Given the description of an element on the screen output the (x, y) to click on. 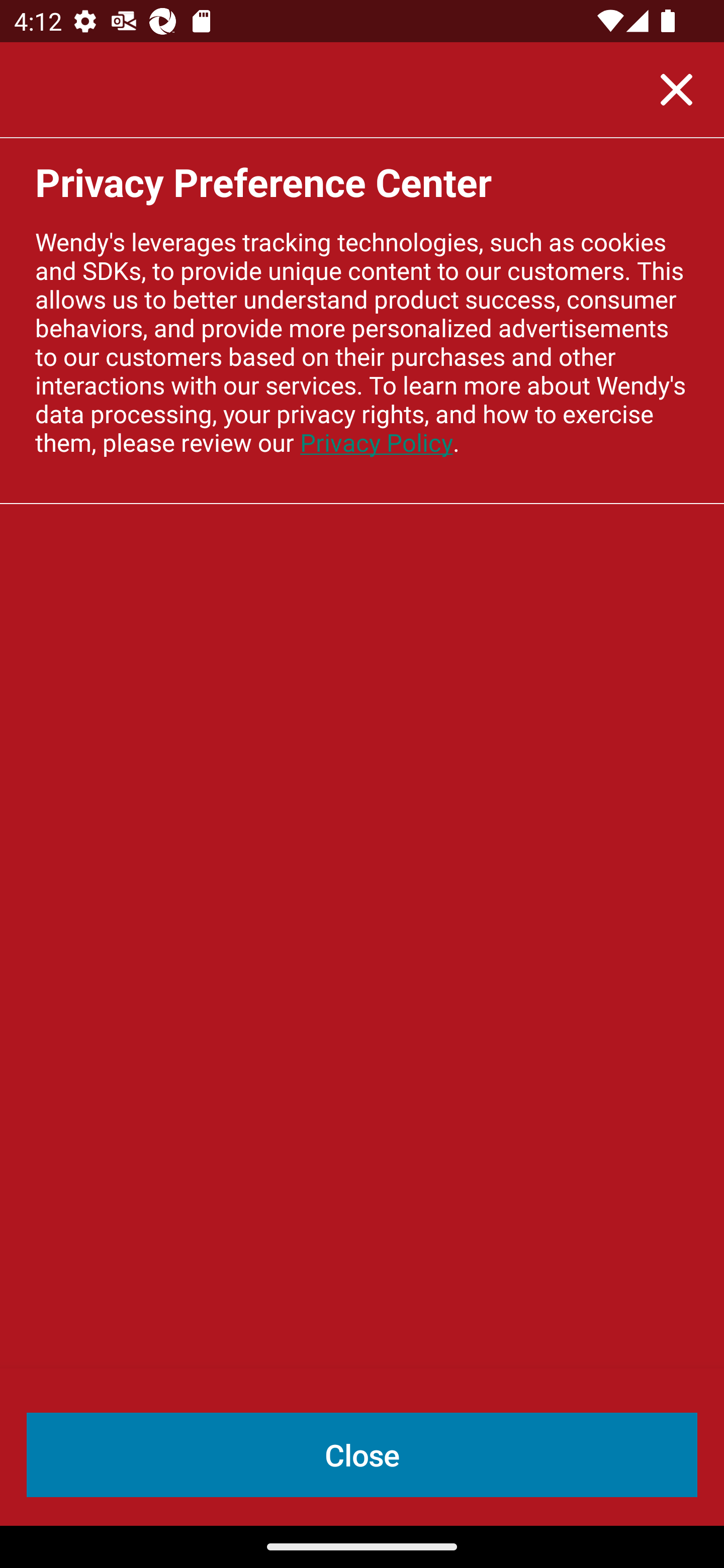
Close (676, 89)
Close (361, 1454)
